Given the description of an element on the screen output the (x, y) to click on. 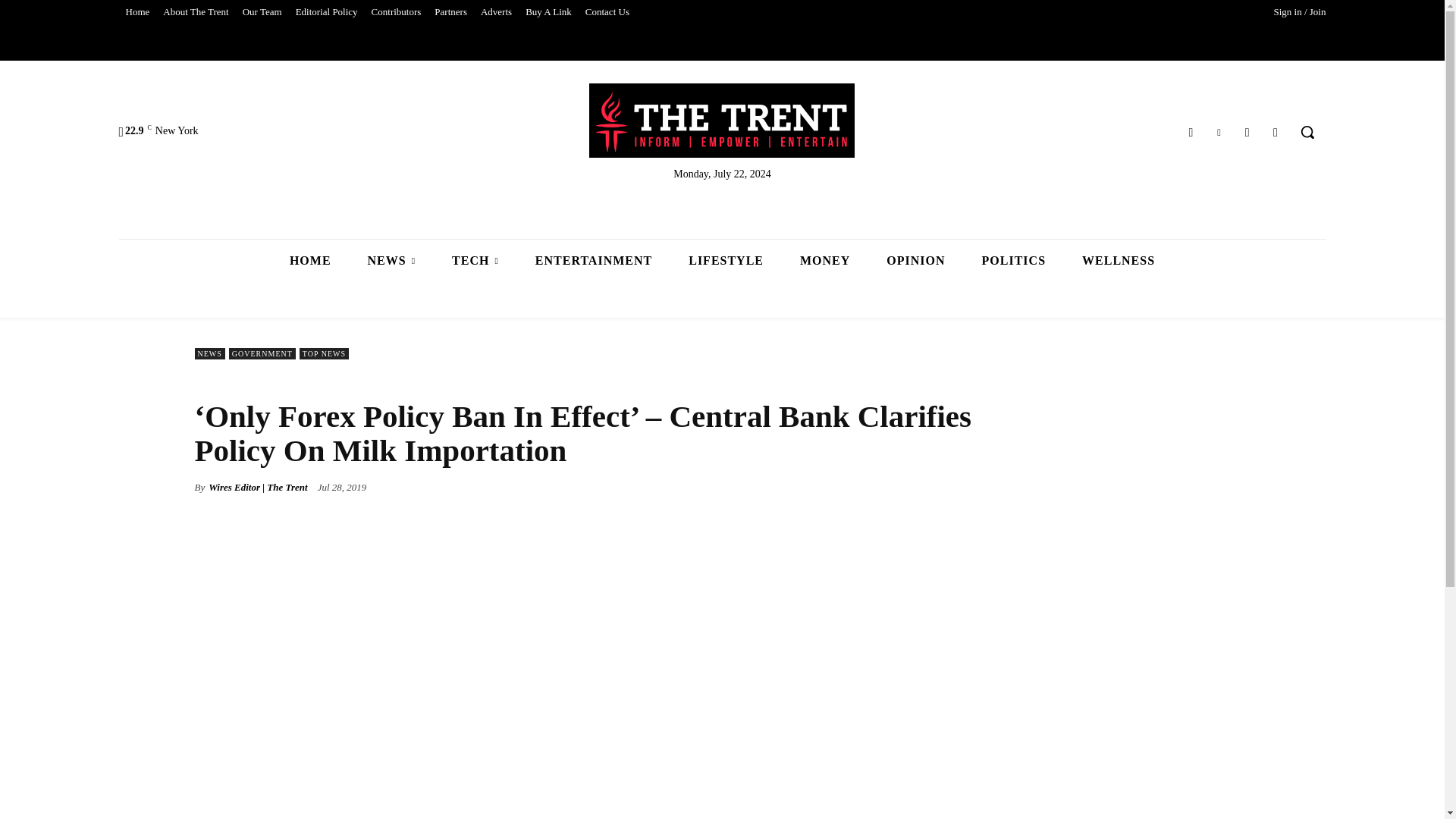
Twitter (1218, 132)
Rss (1275, 132)
Instagram (1246, 132)
Facebook (1190, 132)
